Given the description of an element on the screen output the (x, y) to click on. 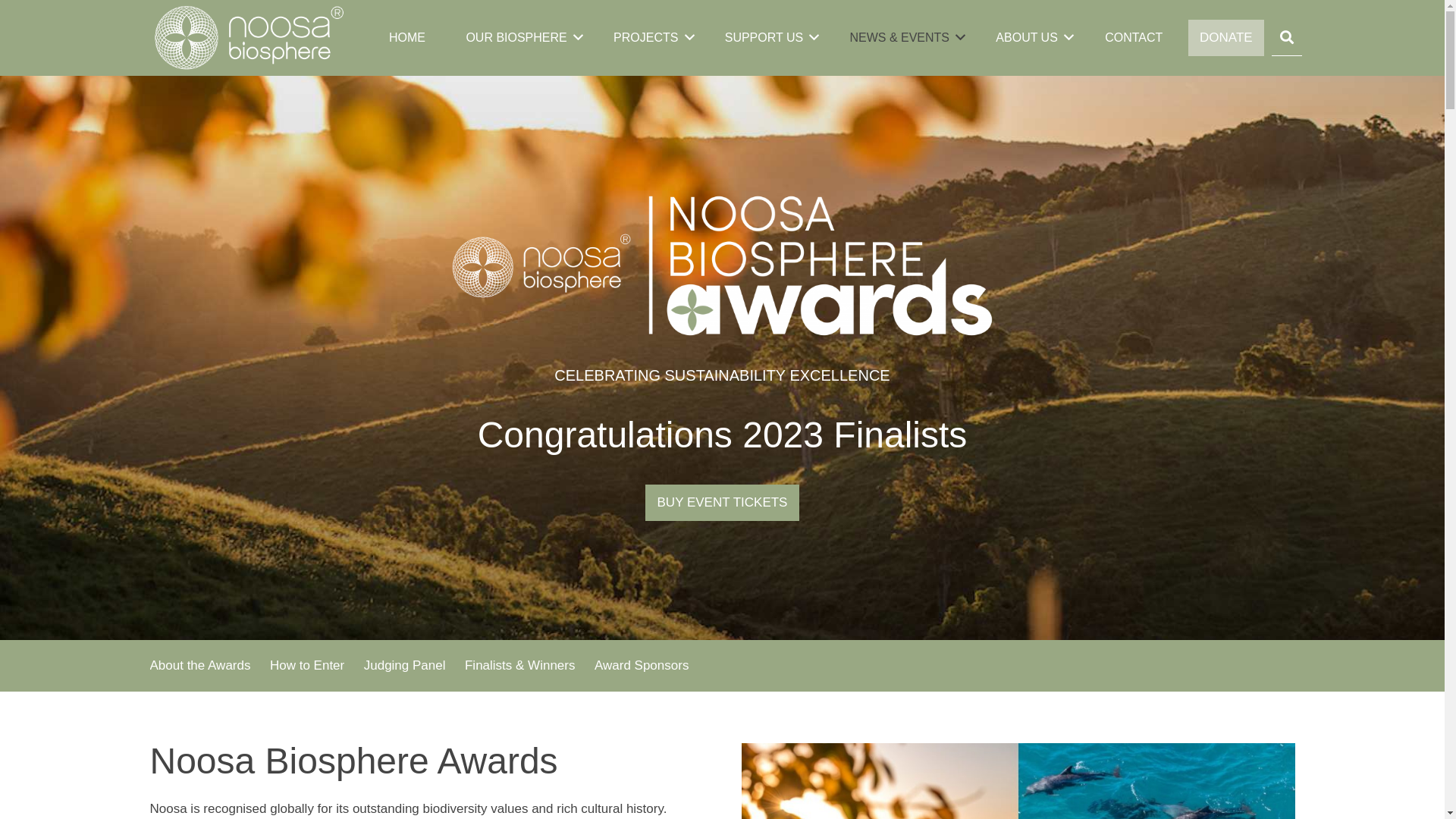
Judging Panel Element type: text (404, 665)
CONTACT Element type: text (1134, 37)
PROJECTS Element type: text (653, 37)
HOME Element type: text (406, 37)
About the Awards Element type: text (200, 665)
Finalists & Winners Element type: text (519, 665)
OUR BIOSPHERE Element type: text (524, 37)
SUPPORT US Element type: text (771, 37)
How to Enter Element type: text (306, 665)
Award Sponsors Element type: text (641, 665)
BUY EVENT TICKETS Element type: text (722, 502)
DONATE Element type: text (1226, 37)
NEWS & EVENTS Element type: text (907, 37)
ABOUT US Element type: text (1034, 37)
